Given the description of an element on the screen output the (x, y) to click on. 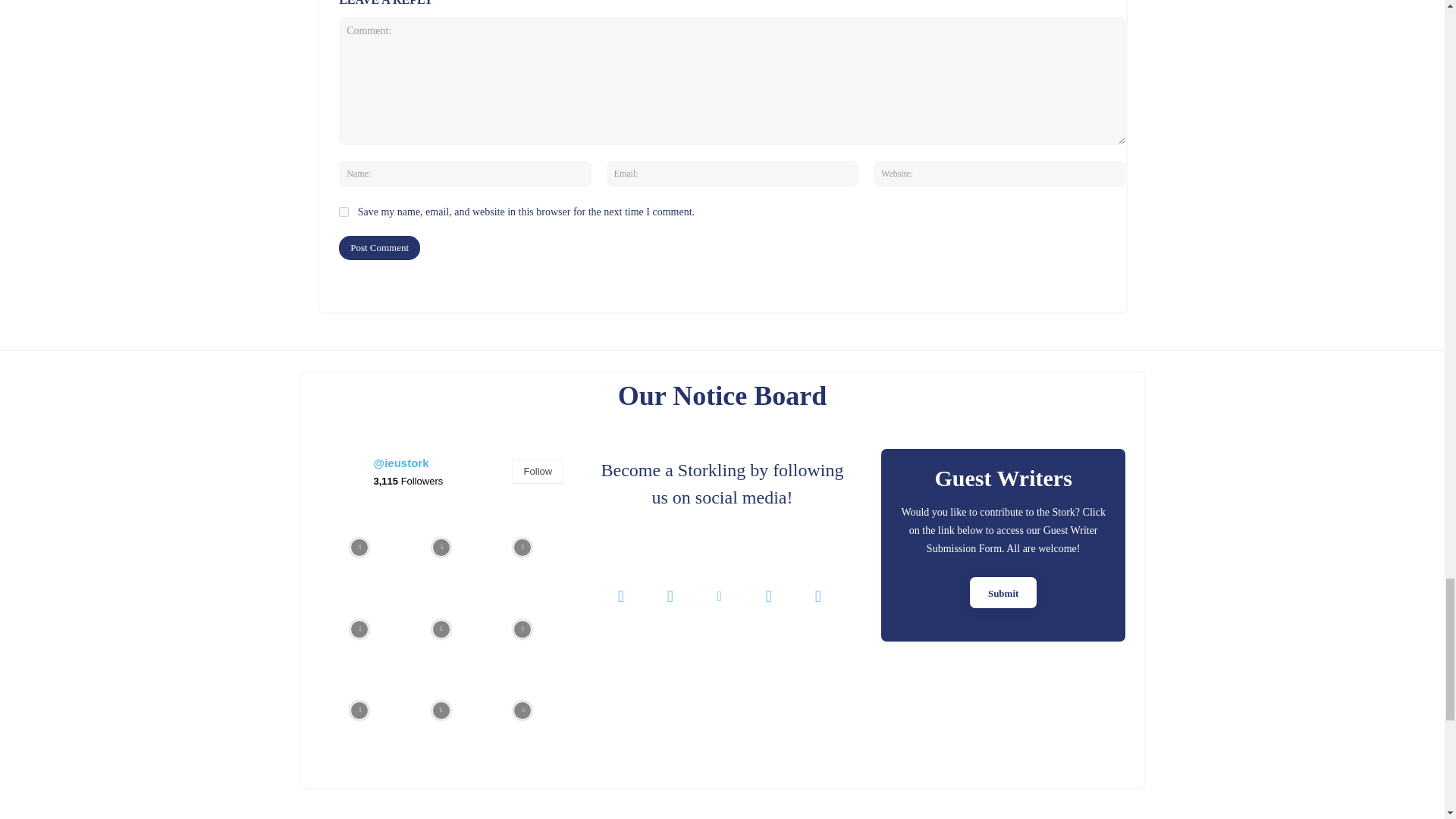
Post Comment (379, 247)
yes (344, 212)
